Given the description of an element on the screen output the (x, y) to click on. 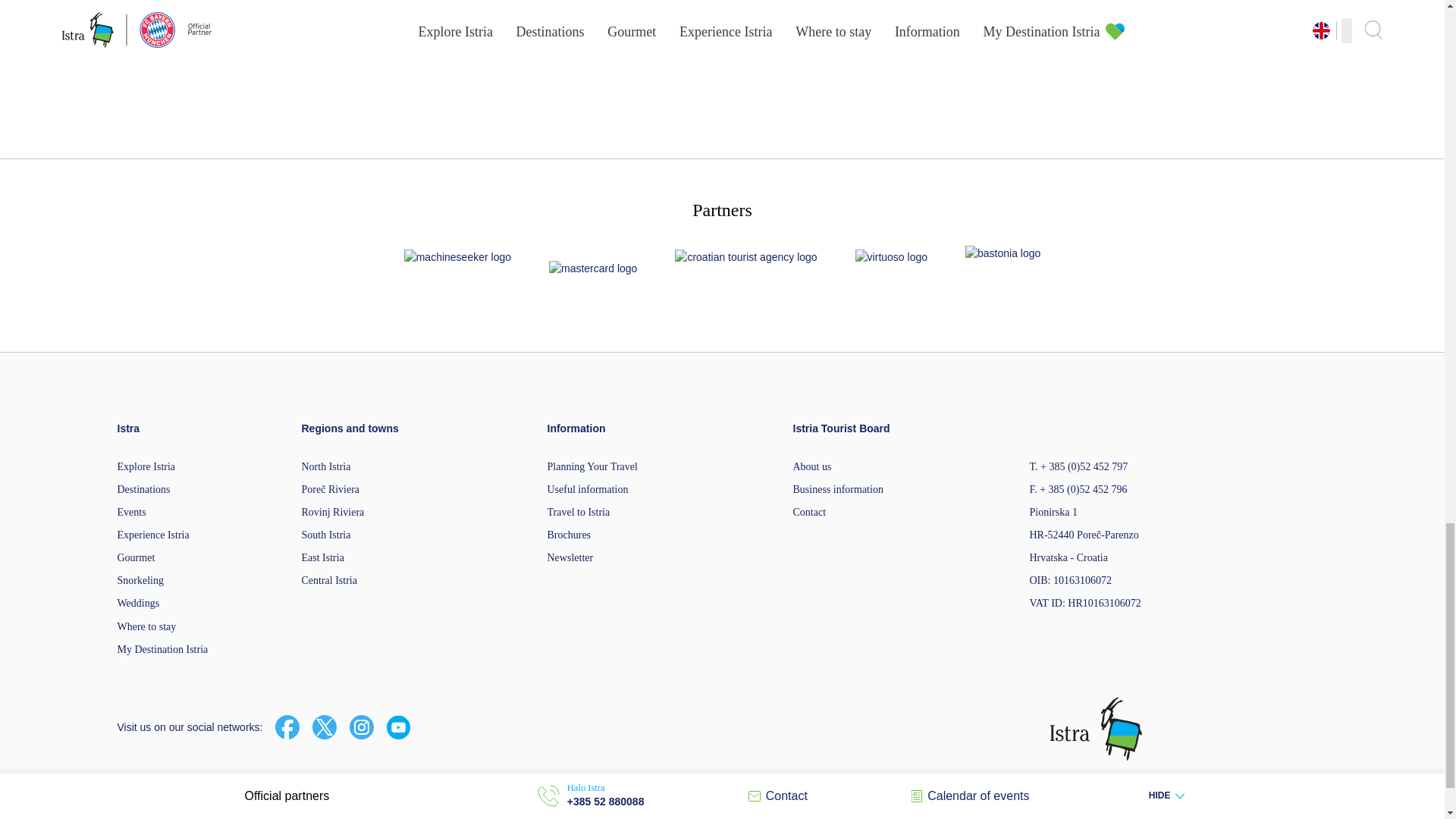
Central Istria (328, 580)
Weddings (137, 603)
East Istria (322, 557)
Where to stay (146, 626)
South Istria (325, 534)
Gourmet (135, 557)
Events (130, 511)
Rovinj Riviera (333, 511)
Snorkeling (139, 580)
North Istria (325, 466)
